Given the description of an element on the screen output the (x, y) to click on. 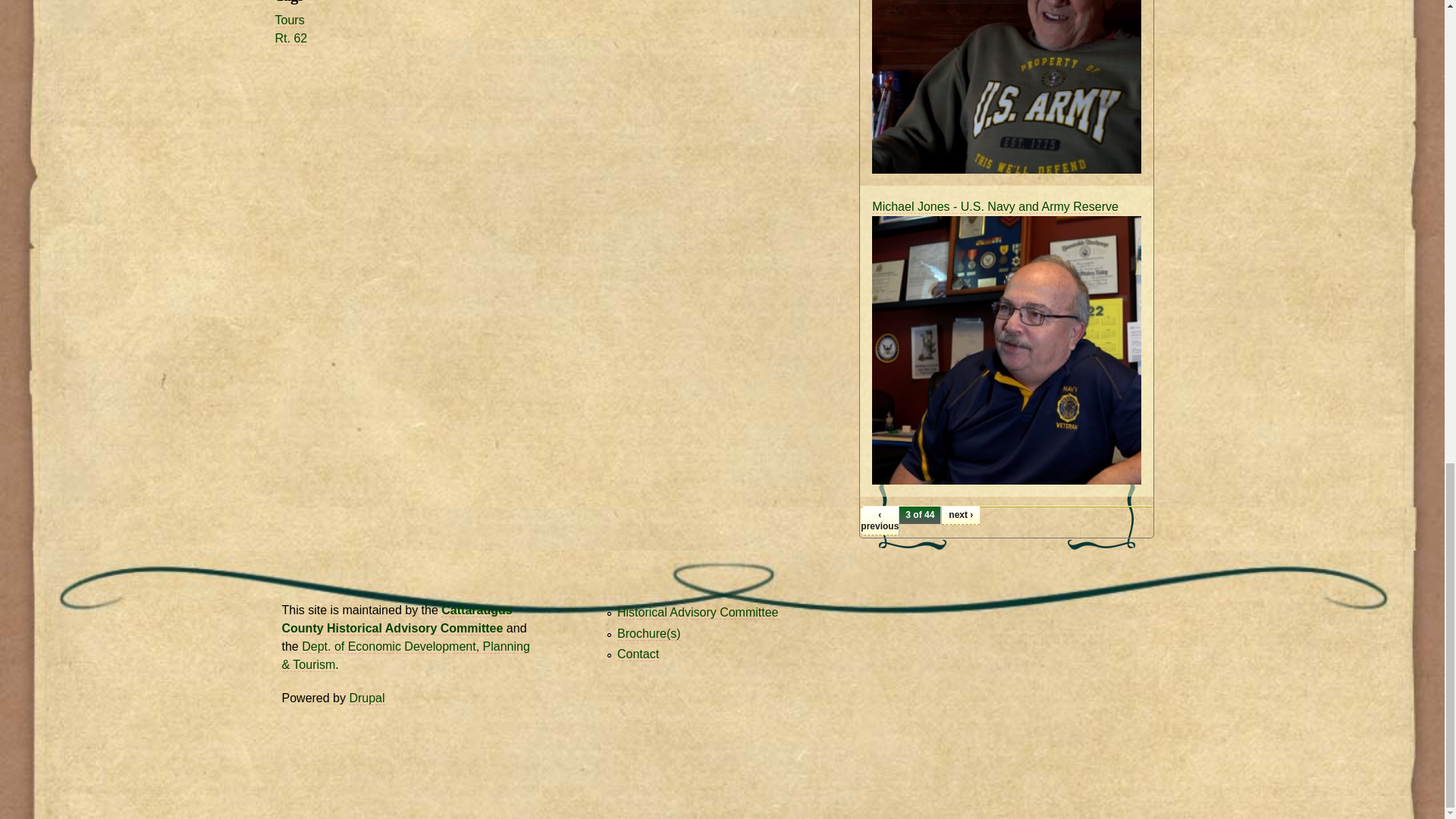
Rt. 62 (291, 38)
Drupal (366, 698)
Contact (638, 653)
Go to previous page (879, 520)
Historical Advisory Committee (697, 612)
Tours (289, 20)
Request a Brochure about History around Cattaraugus County (649, 633)
Contact the Historian's group (638, 653)
Michael Jones - U.S. Navy and Army Reserve (995, 206)
Cattaraugus County Historical Advisory Committee (697, 612)
Cattaraugus County Historical Advisory Committee (397, 619)
Go to next page (960, 515)
